Given the description of an element on the screen output the (x, y) to click on. 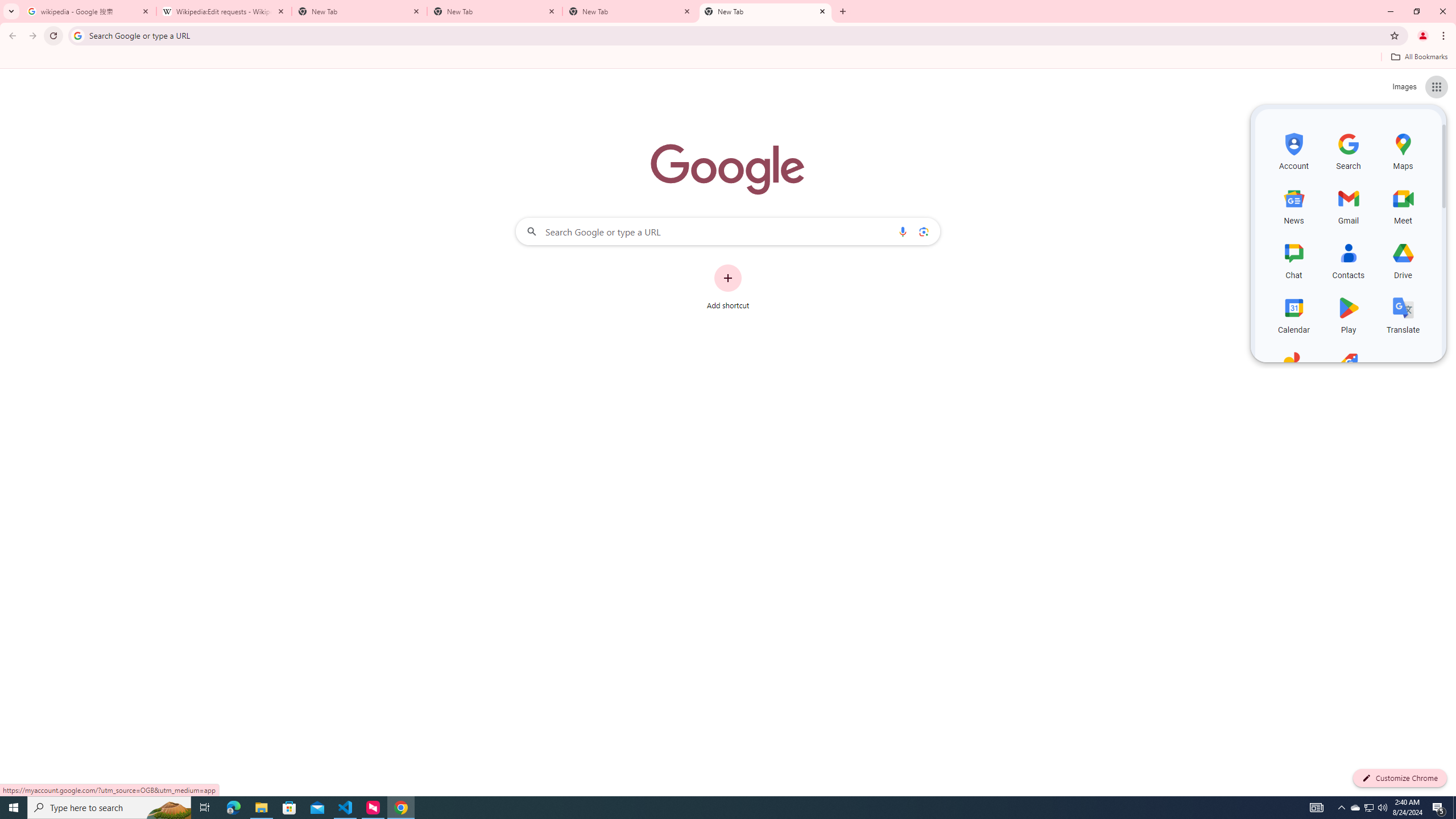
Meet, row 2 of 5 and column 3 of 3 in the first section (1402, 204)
